Given the description of an element on the screen output the (x, y) to click on. 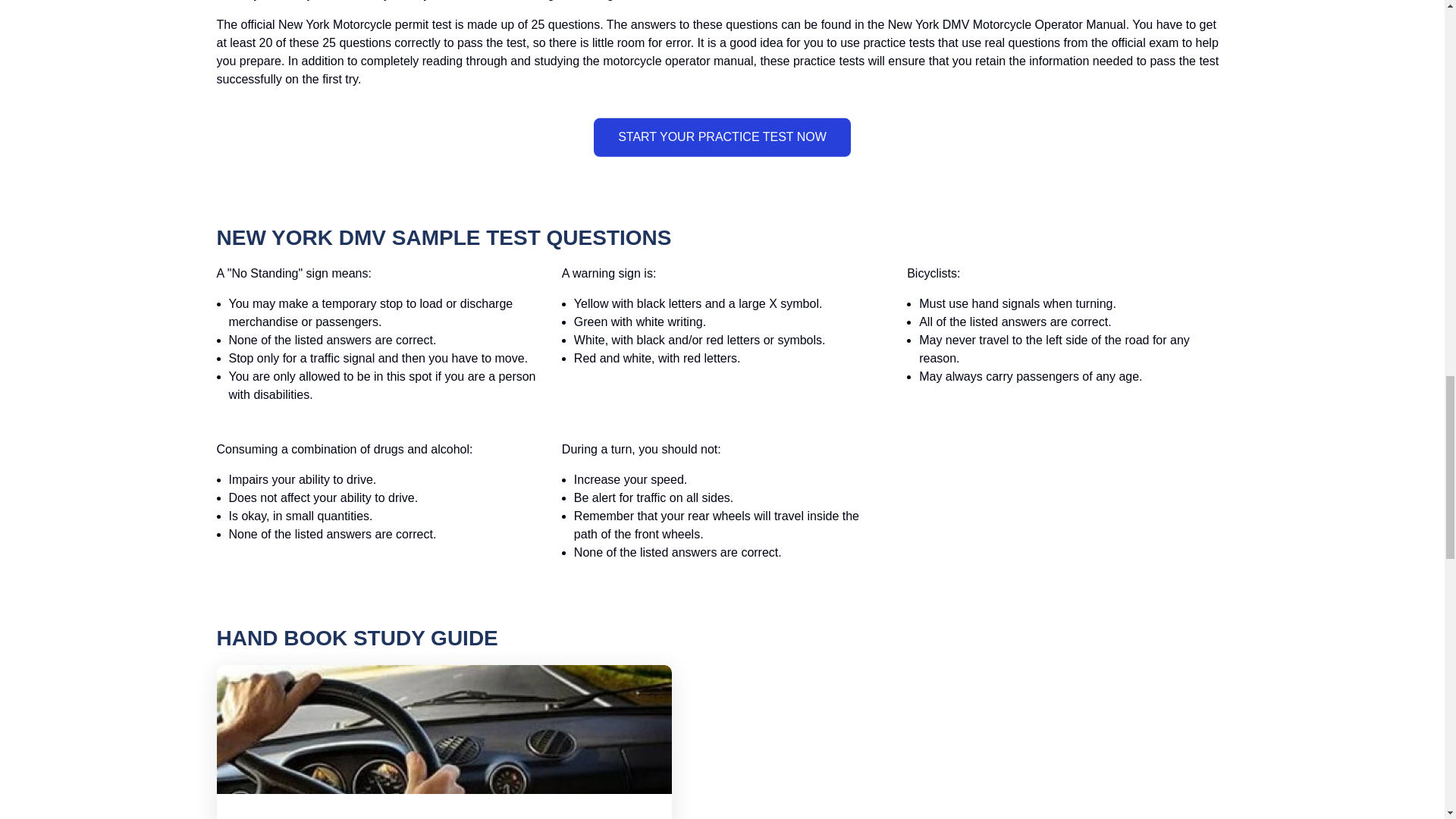
Start your practice test now (722, 136)
Start your practice test now (722, 136)
